Given the description of an element on the screen output the (x, y) to click on. 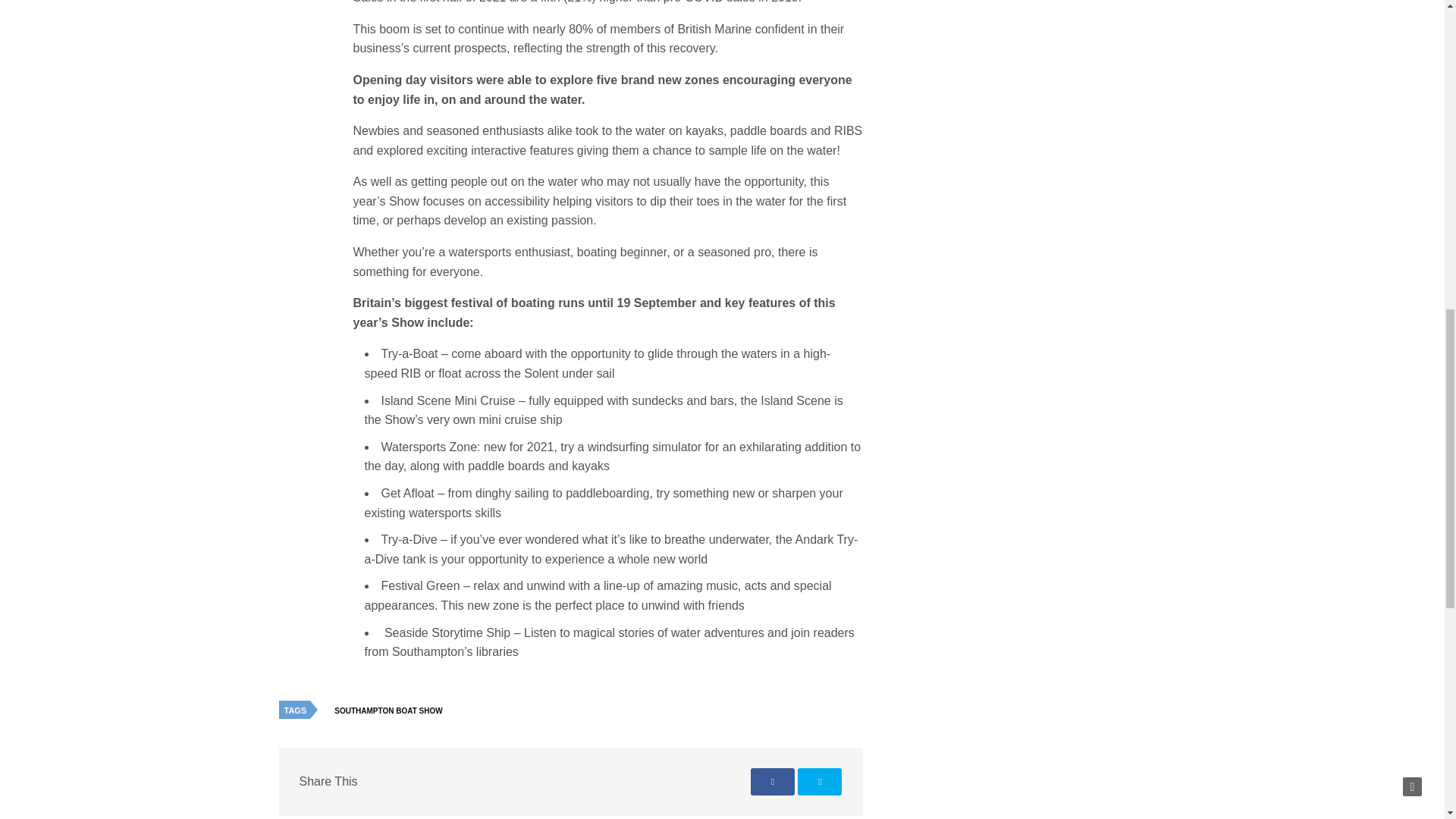
SOUTHAMPTON BOAT SHOW (391, 711)
